Given the description of an element on the screen output the (x, y) to click on. 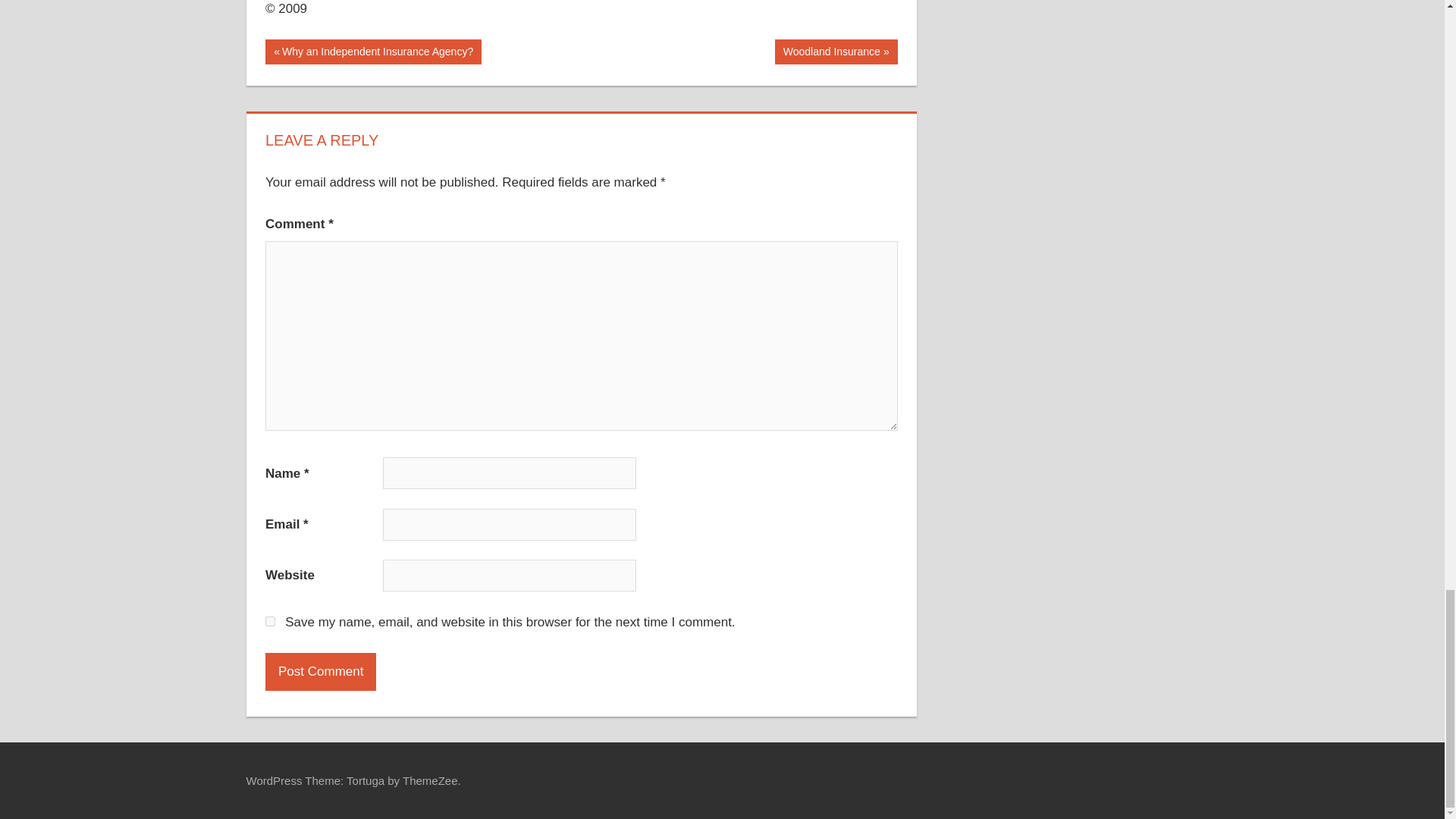
Post Comment (319, 671)
yes (372, 51)
Post Comment (836, 51)
